Given the description of an element on the screen output the (x, y) to click on. 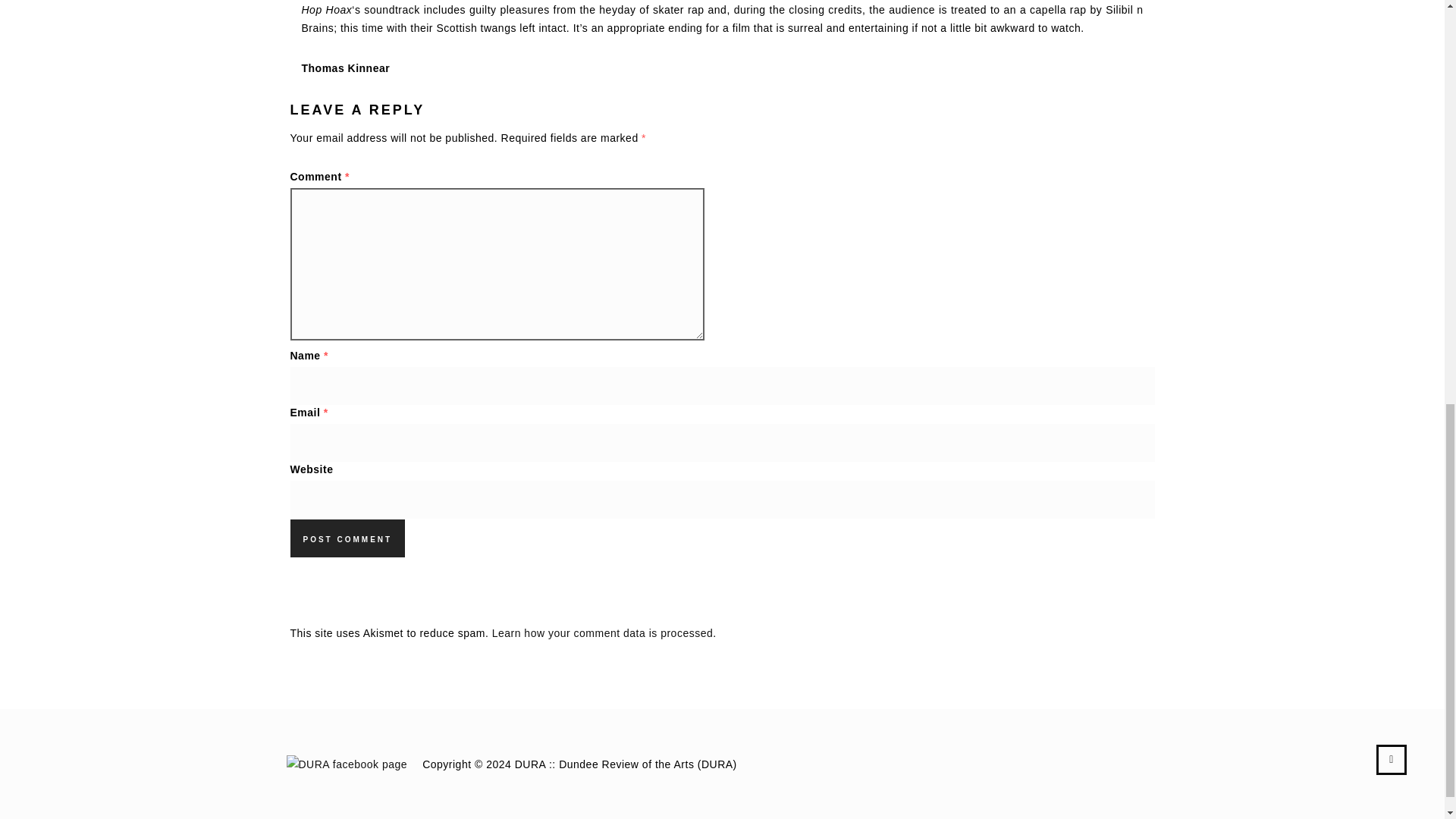
Post Comment (346, 538)
Post Comment (346, 538)
Learn how your comment data is processed (602, 633)
